Given the description of an element on the screen output the (x, y) to click on. 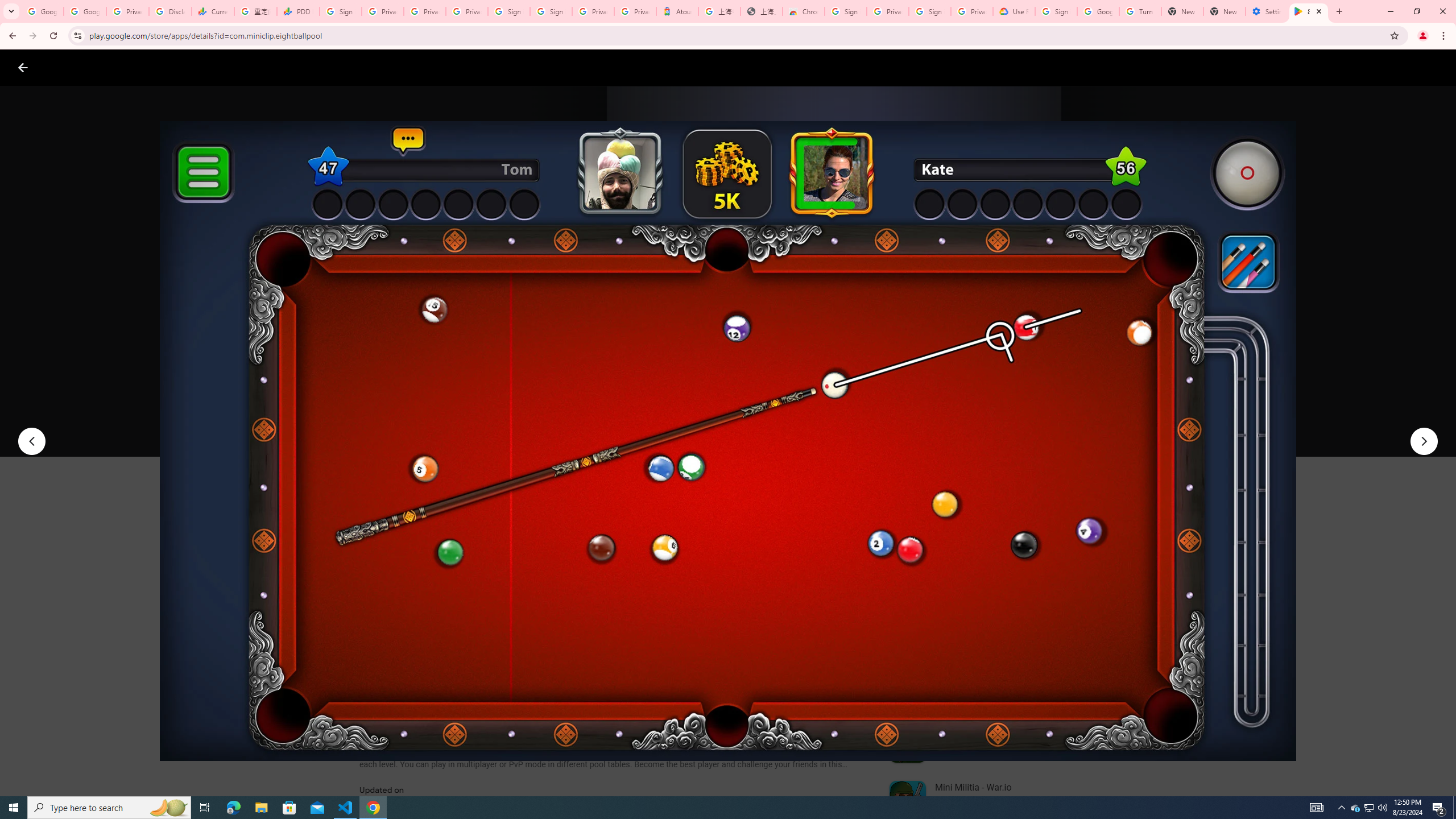
Privacy Checkup (424, 11)
Apps (182, 67)
Play trailer (1062, 423)
Scroll Next (848, 563)
Miniclip.com (386, 333)
